Given the description of an element on the screen output the (x, y) to click on. 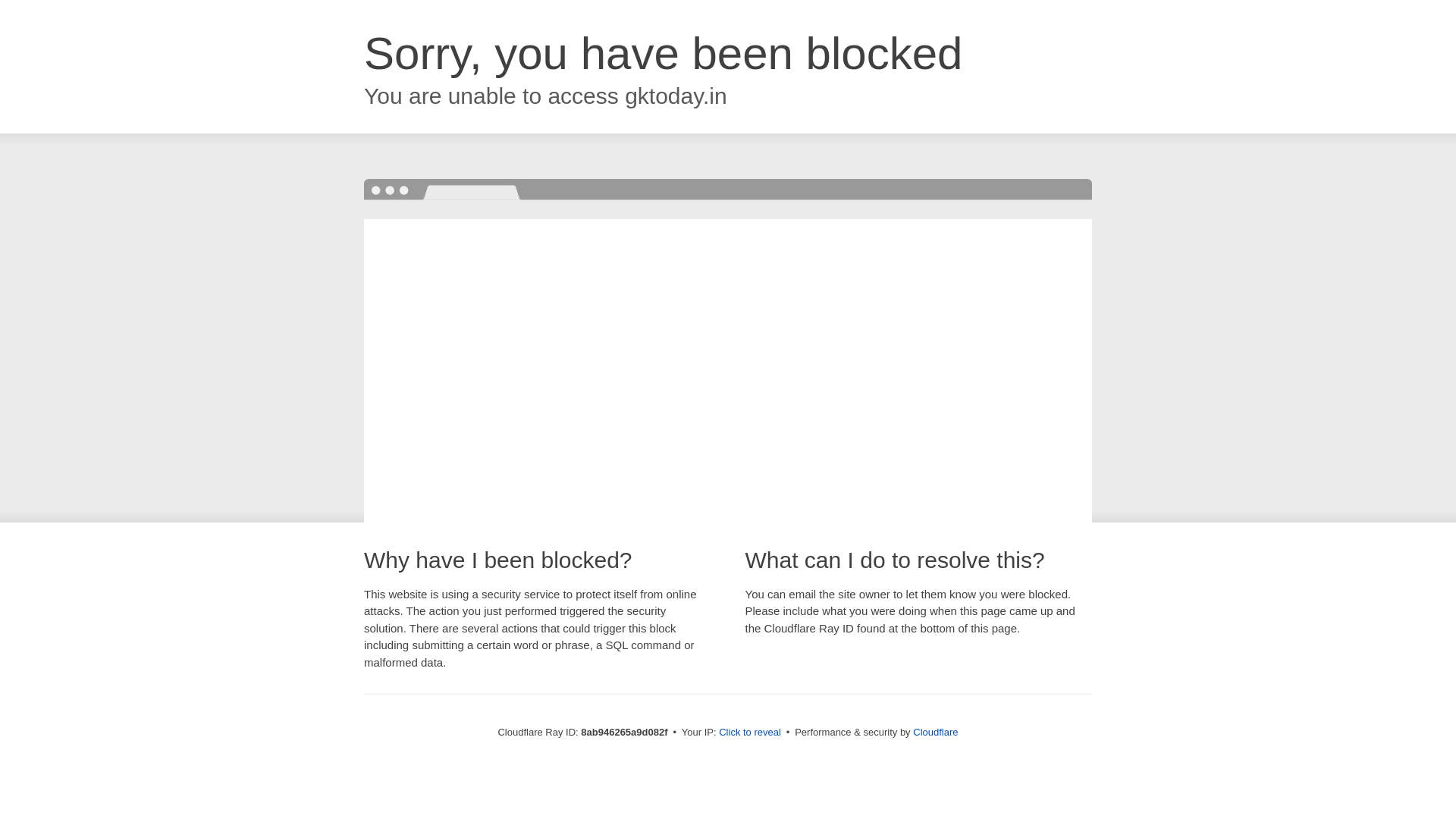
Cloudflare (935, 731)
Click to reveal (749, 732)
